Given the description of an element on the screen output the (x, y) to click on. 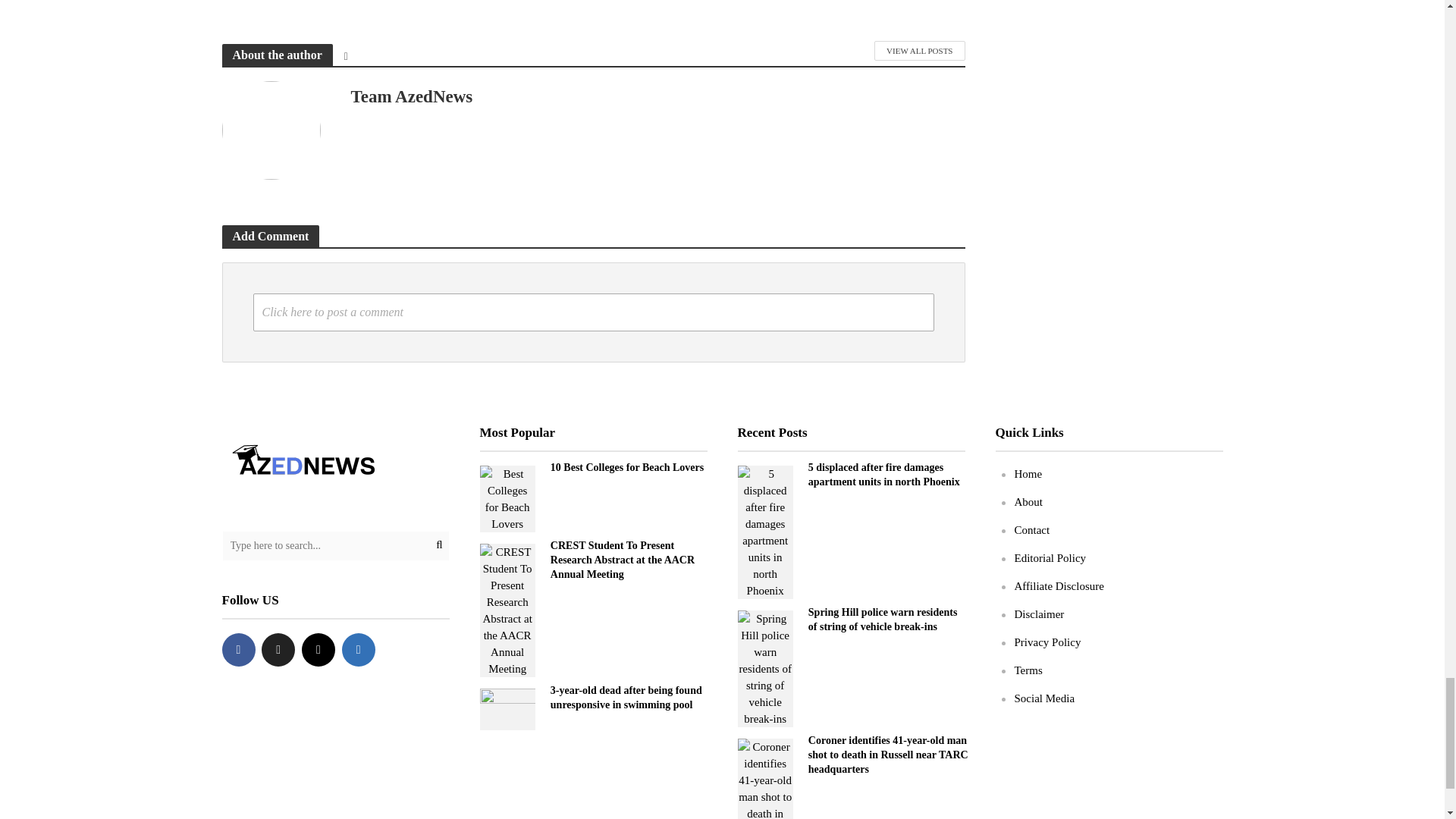
Instagram (317, 648)
Facebook (237, 648)
Linkedin (358, 648)
